Given the description of an element on the screen output the (x, y) to click on. 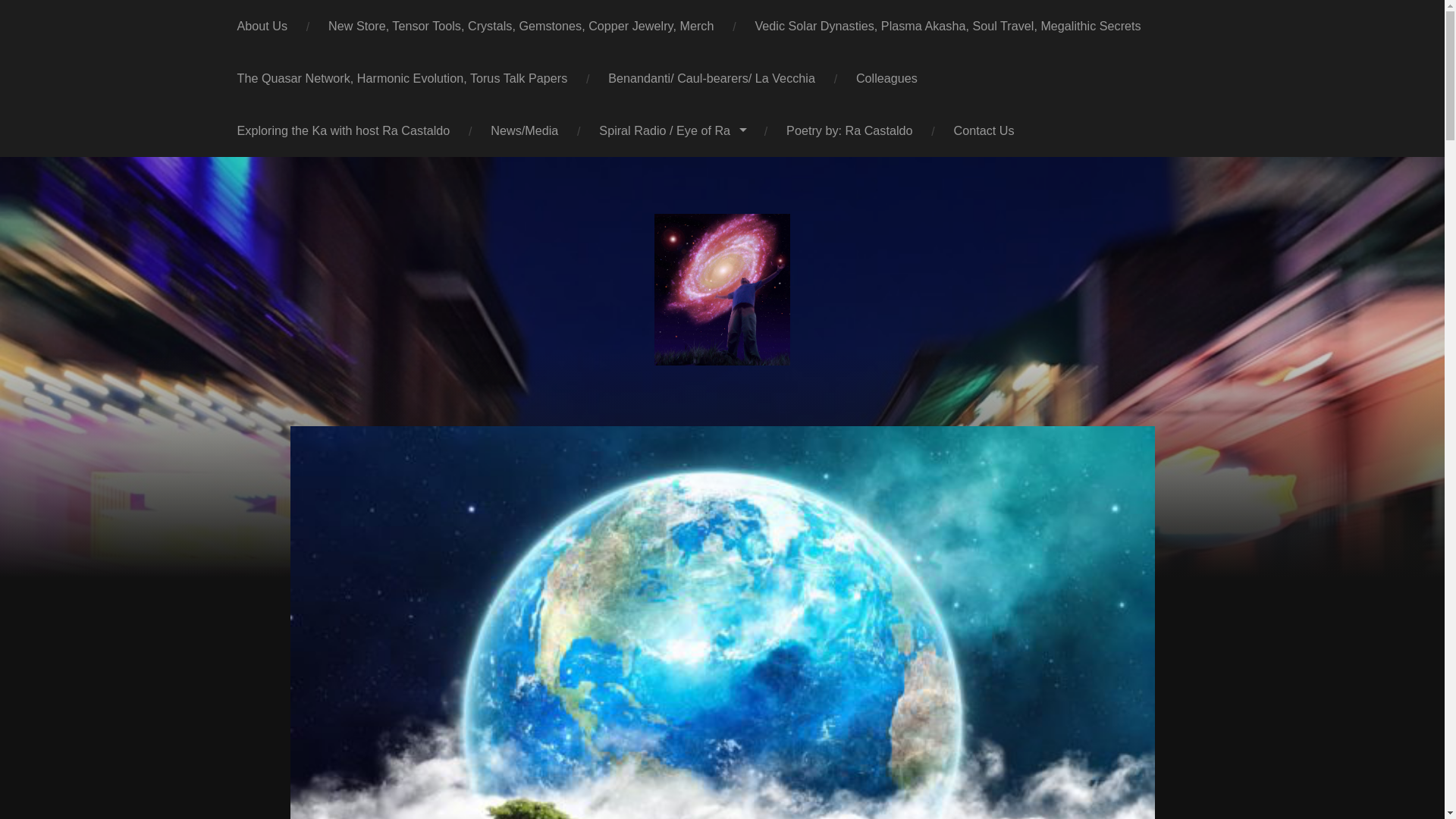
Exploring the Ka with host Ra Castaldo (343, 130)
The mystical spiral (671, 130)
Colleagues (886, 78)
spiritual evolution (711, 78)
New Store, Crystals,Tensor tools, Copper Jewelry !!!! (520, 26)
About Us (262, 26)
Awaken (524, 130)
Contact Us (984, 130)
The Mystical Spiral (721, 289)
Poetry by: Ra Castaldo (849, 130)
The mystical spiral (262, 26)
The Quasar Network, Harmonic Evolution, Torus Talk Papers (402, 78)
